Given the description of an element on the screen output the (x, y) to click on. 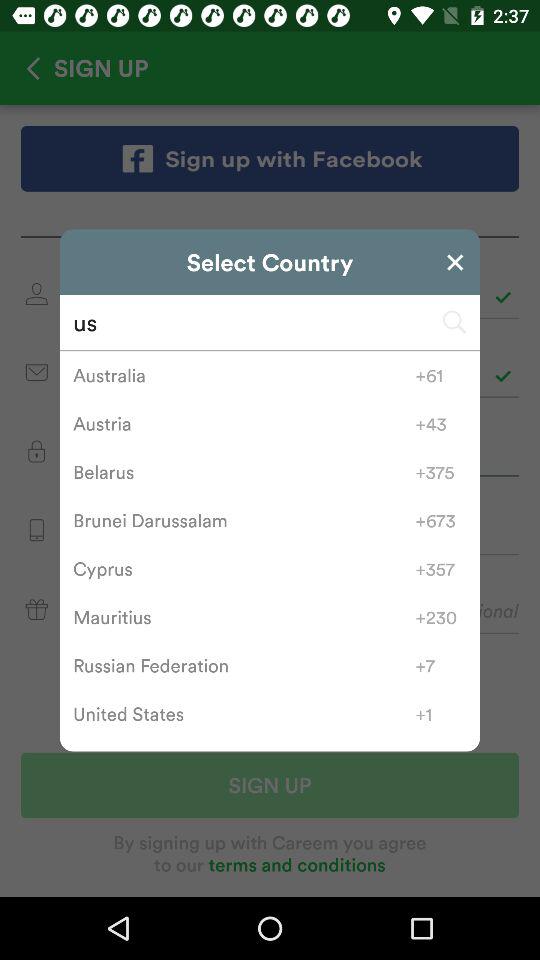
choose item at the top right corner (455, 262)
